Given the description of an element on the screen output the (x, y) to click on. 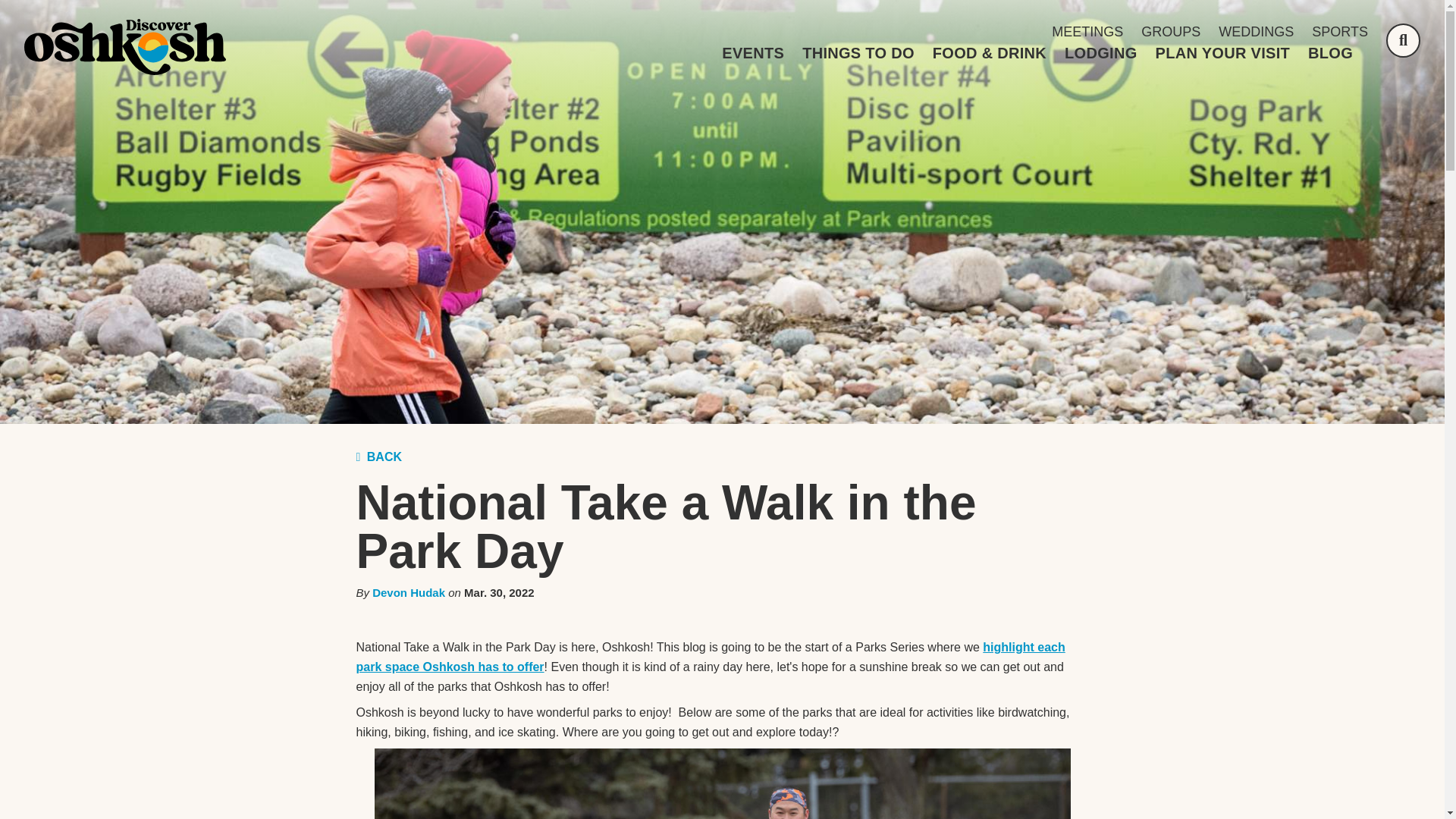
PLAN YOUR VISIT (1223, 53)
BLOG (1329, 53)
THINGS TO DO (858, 53)
LODGING (1100, 53)
EVENTS (753, 53)
SPORTS (1339, 32)
WEDDINGS (1256, 32)
GROUPS (1170, 32)
MEETINGS (1086, 32)
